Given the description of an element on the screen output the (x, y) to click on. 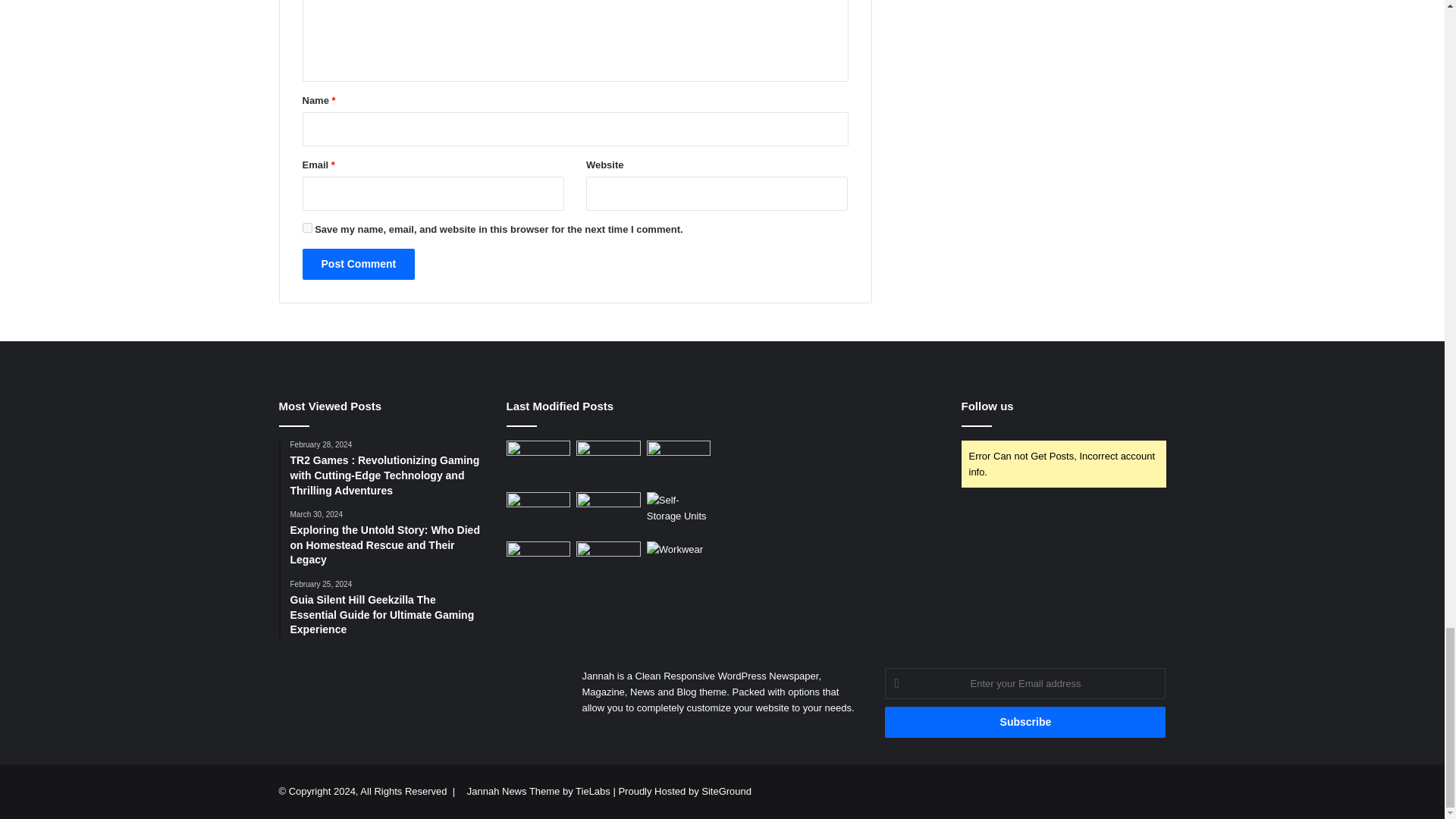
yes (306, 227)
Subscribe (1025, 721)
Post Comment (357, 264)
